Given the description of an element on the screen output the (x, y) to click on. 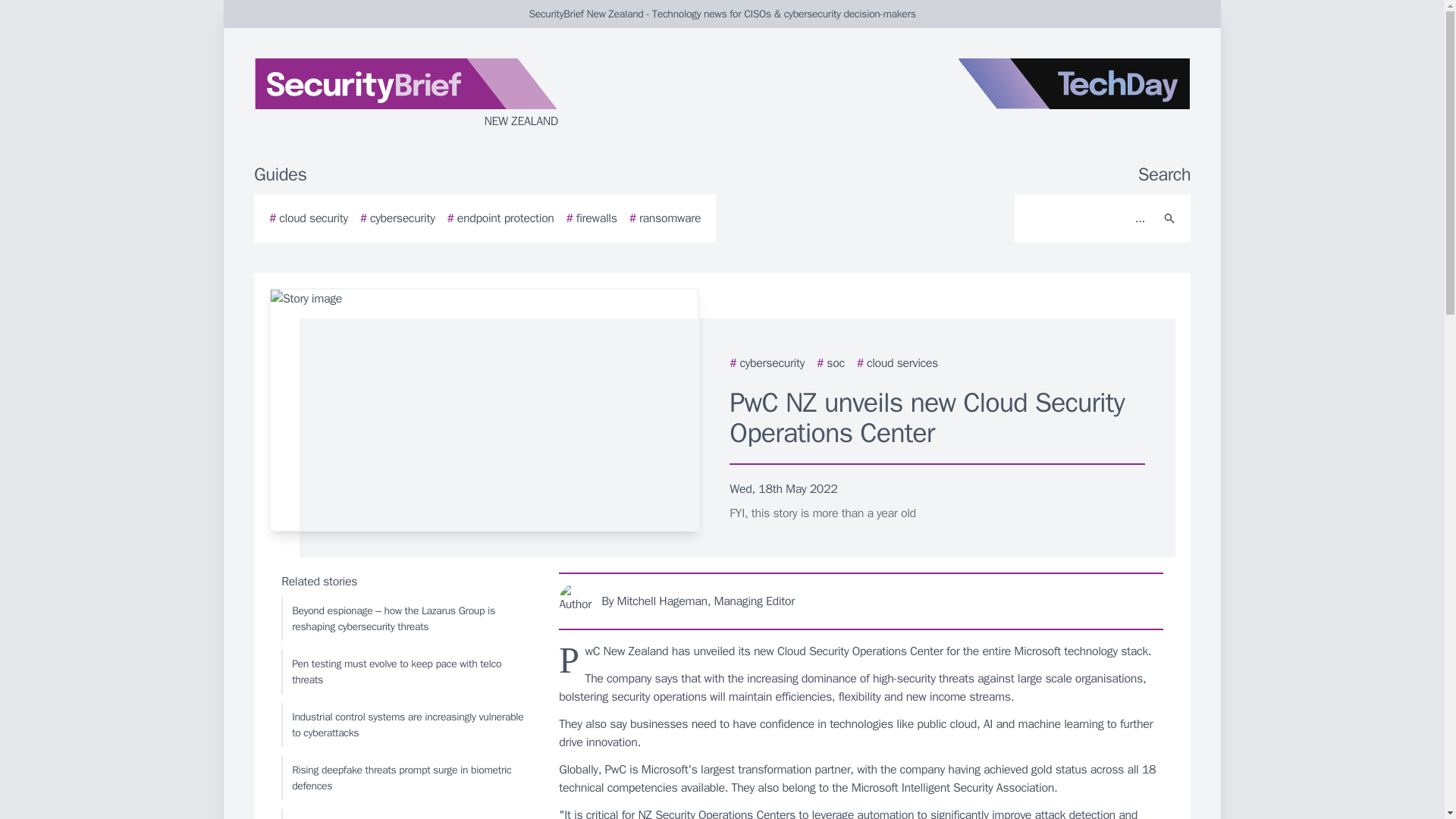
Rising deepfake threats prompt surge in biometric defences (406, 777)
Pen testing must evolve to keep pace with telco threats (406, 671)
By Mitchell Hageman, Managing Editor (861, 601)
NEW ZEALAND (435, 94)
